Given the description of an element on the screen output the (x, y) to click on. 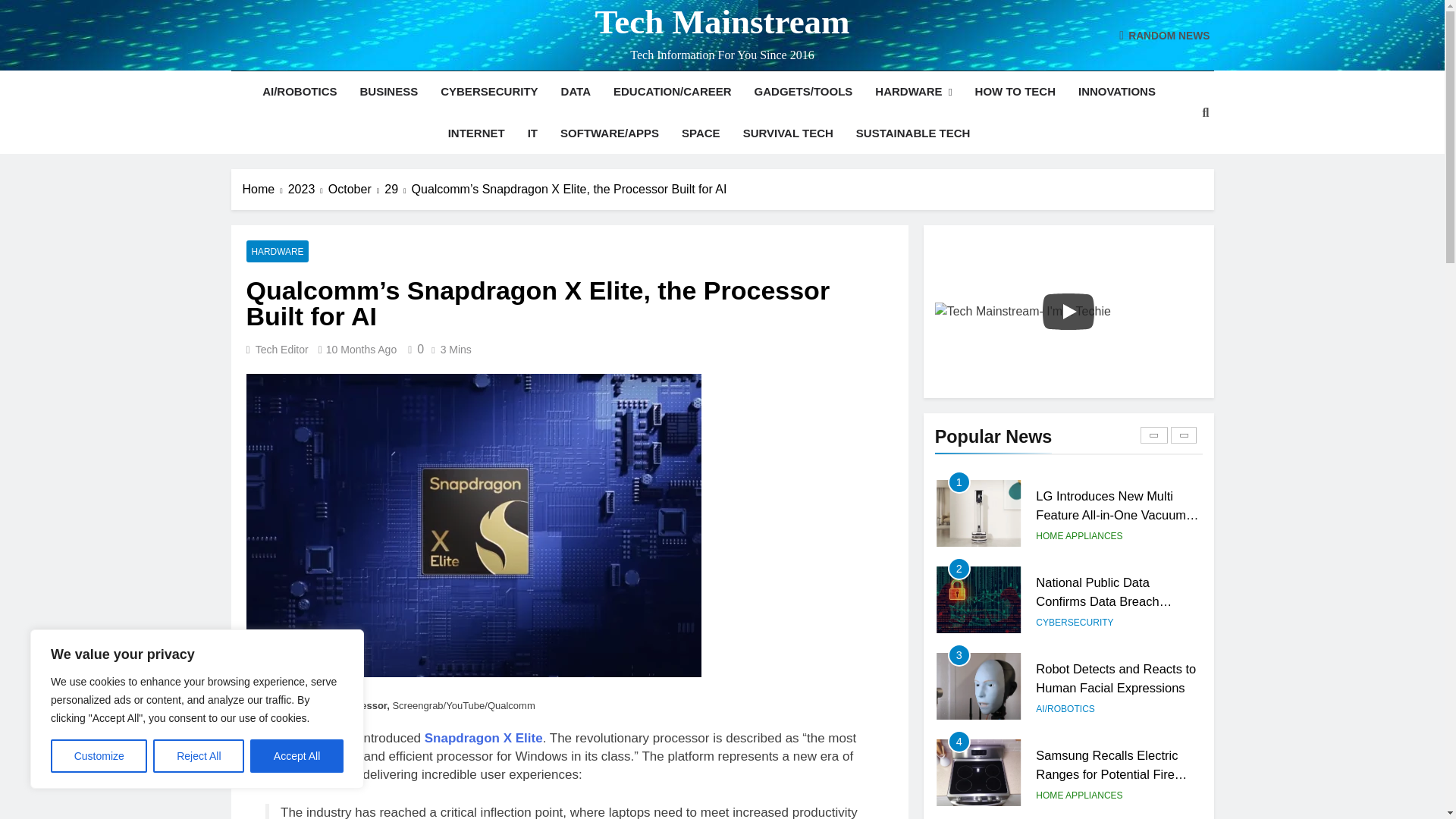
Accept All (296, 756)
SUSTAINABLE TECH (912, 133)
INNOVATIONS (1117, 91)
RANDOM NEWS (1164, 34)
Tech Mainstream (721, 21)
HOW TO TECH (1015, 91)
HARDWARE (912, 92)
DATA (576, 91)
SPACE (700, 133)
INTERNET (476, 133)
